Given the description of an element on the screen output the (x, y) to click on. 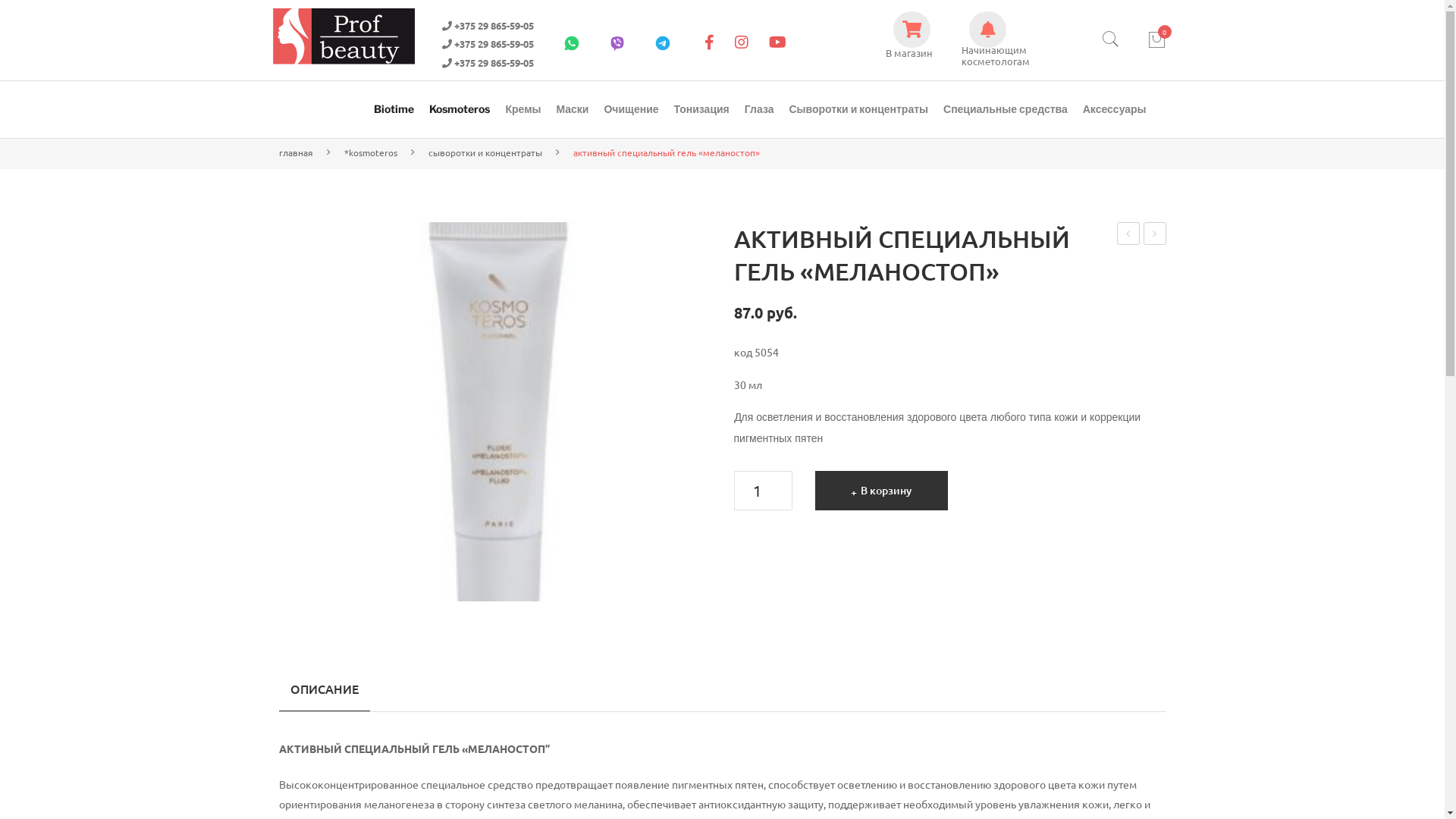
5054 Element type: hover (495, 411)
0 Element type: text (1156, 40)
Viber Element type: hover (616, 41)
+375 29 865-59-05 Element type: text (487, 62)
Telegram Element type: hover (662, 41)
whatsapp Element type: hover (571, 41)
+375 29 865-59-05 Element type: text (487, 25)
Instagram Element type: hover (741, 42)
Facebook Element type: hover (709, 42)
*kosmoteros Element type: text (370, 152)
Biotime Element type: text (393, 109)
+375 29 865-59-05 Element type: text (487, 43)
Youtube Element type: hover (776, 42)
Kosmoteros Element type: text (459, 109)
